Given the description of an element on the screen output the (x, y) to click on. 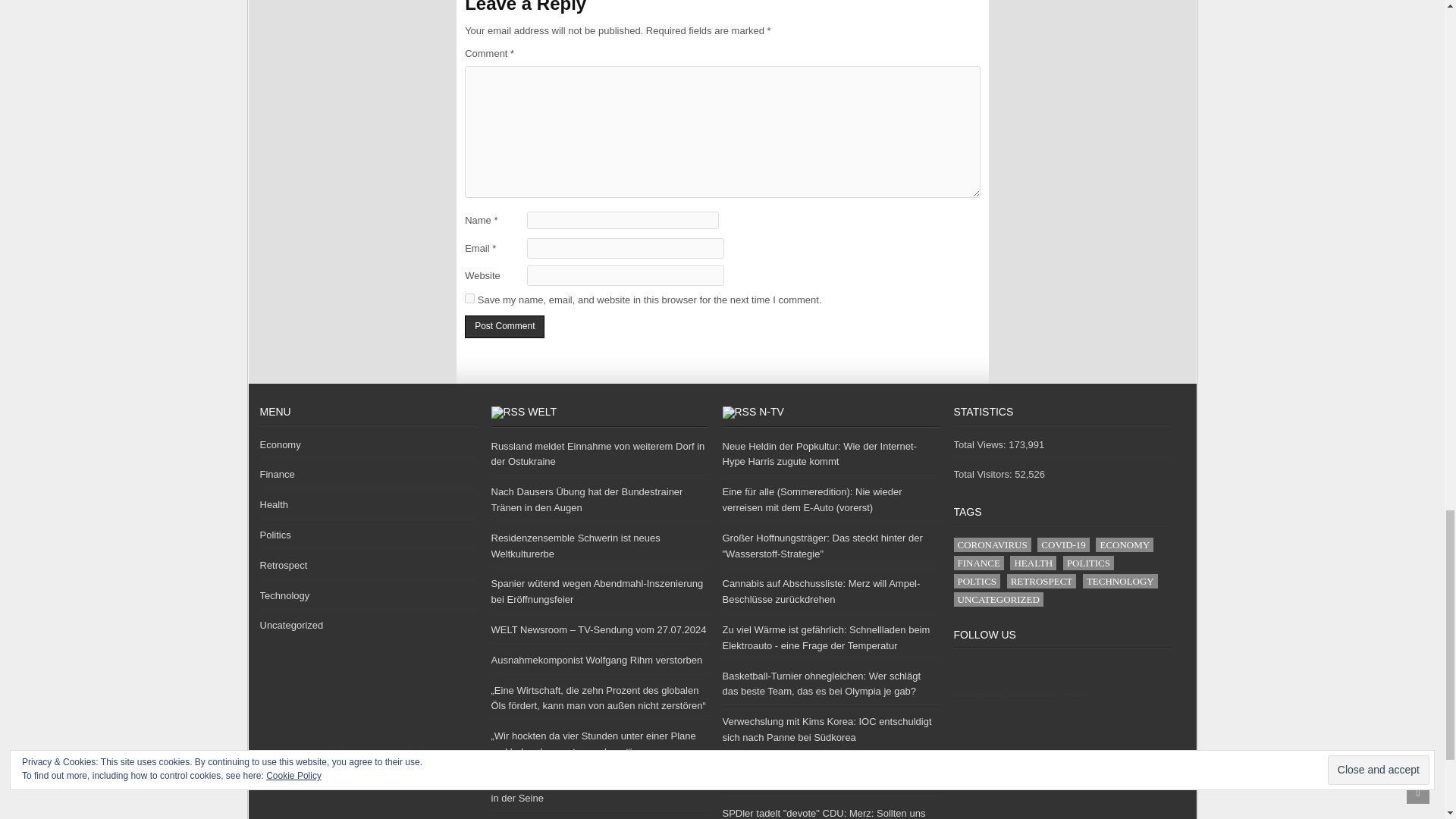
Post Comment (504, 327)
yes (469, 298)
Post Comment (504, 327)
